Given the description of an element on the screen output the (x, y) to click on. 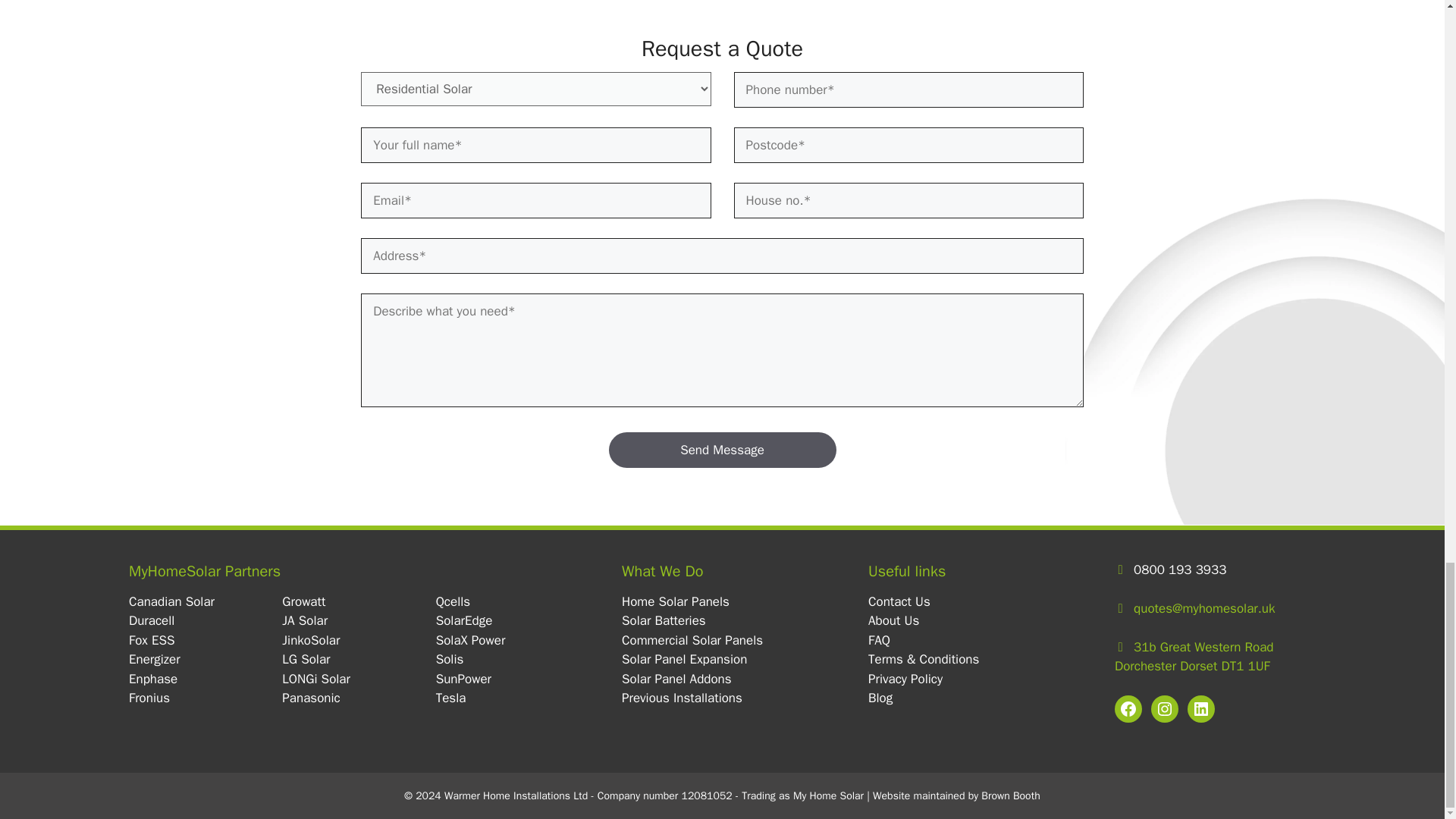
Send Message (721, 450)
